Given the description of an element on the screen output the (x, y) to click on. 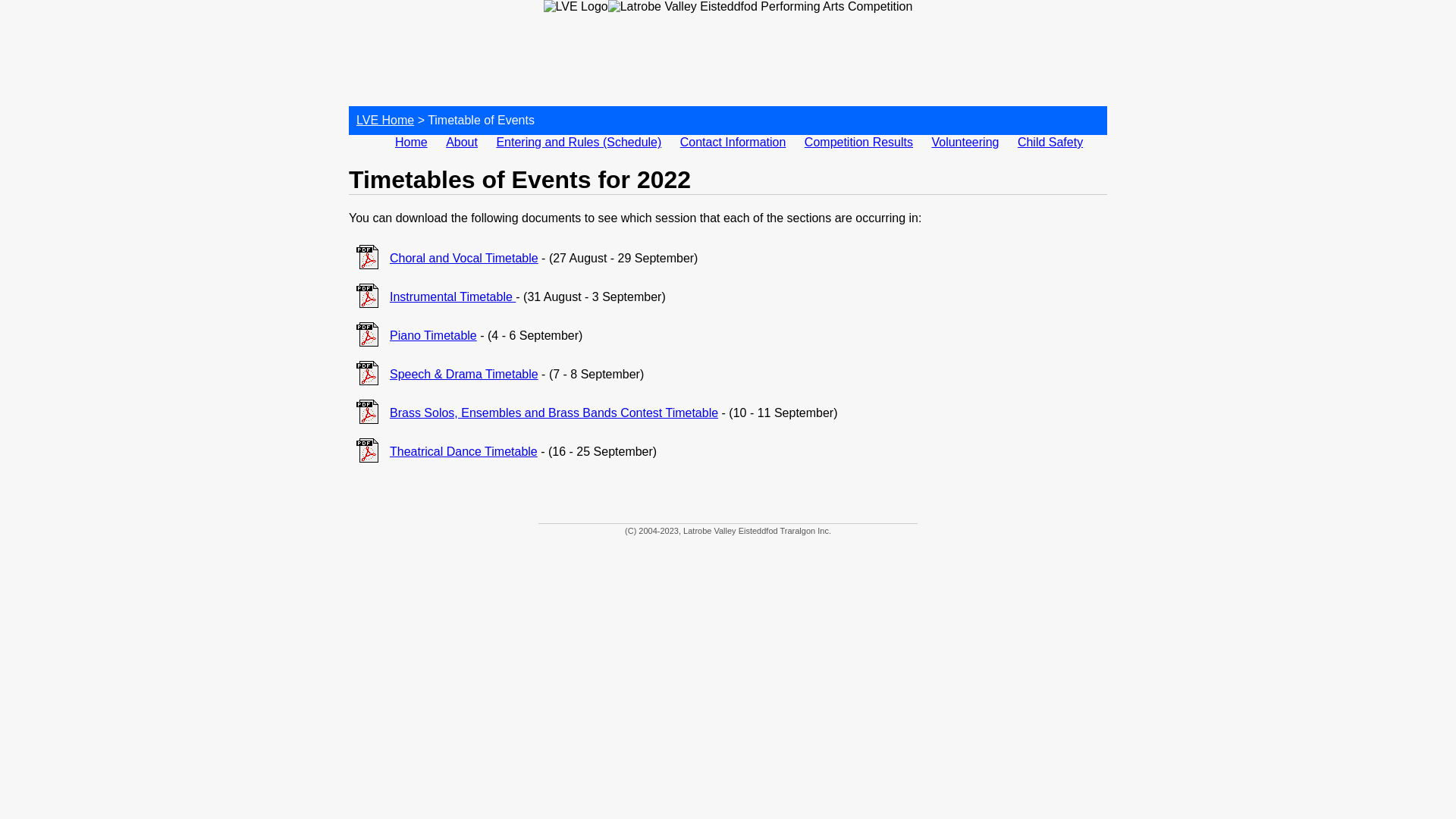
Brass Solos, Ensembles and Brass Bands Contest Timetable Element type: text (553, 412)
LVE Home Element type: text (385, 119)
Piano Timetable Element type: text (432, 335)
Instrumental Timetable Element type: text (452, 296)
Theatrical Dance Timetable Element type: text (463, 451)
Child Safety Element type: text (1049, 141)
About Element type: text (461, 141)
Contact Information Element type: text (733, 141)
Speech & Drama Timetable Element type: text (463, 373)
Volunteering Element type: text (964, 141)
Choral and Vocal Timetable Element type: text (463, 257)
Competition Results Element type: text (858, 141)
Entering and Rules (Schedule) Element type: text (578, 141)
Home Element type: text (411, 141)
